Given the description of an element on the screen output the (x, y) to click on. 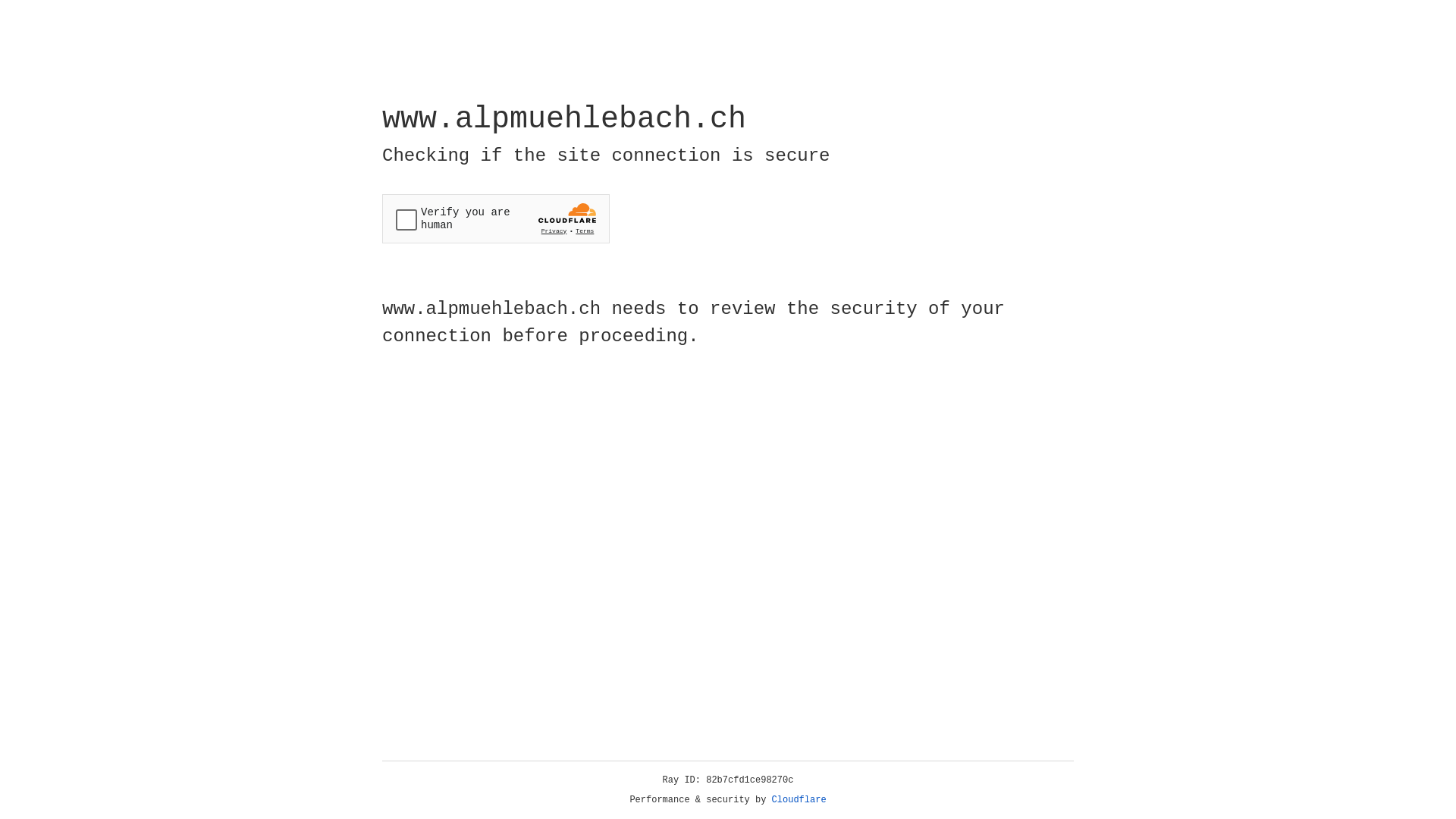
Cloudflare Element type: text (798, 799)
Widget containing a Cloudflare security challenge Element type: hover (495, 218)
